Given the description of an element on the screen output the (x, y) to click on. 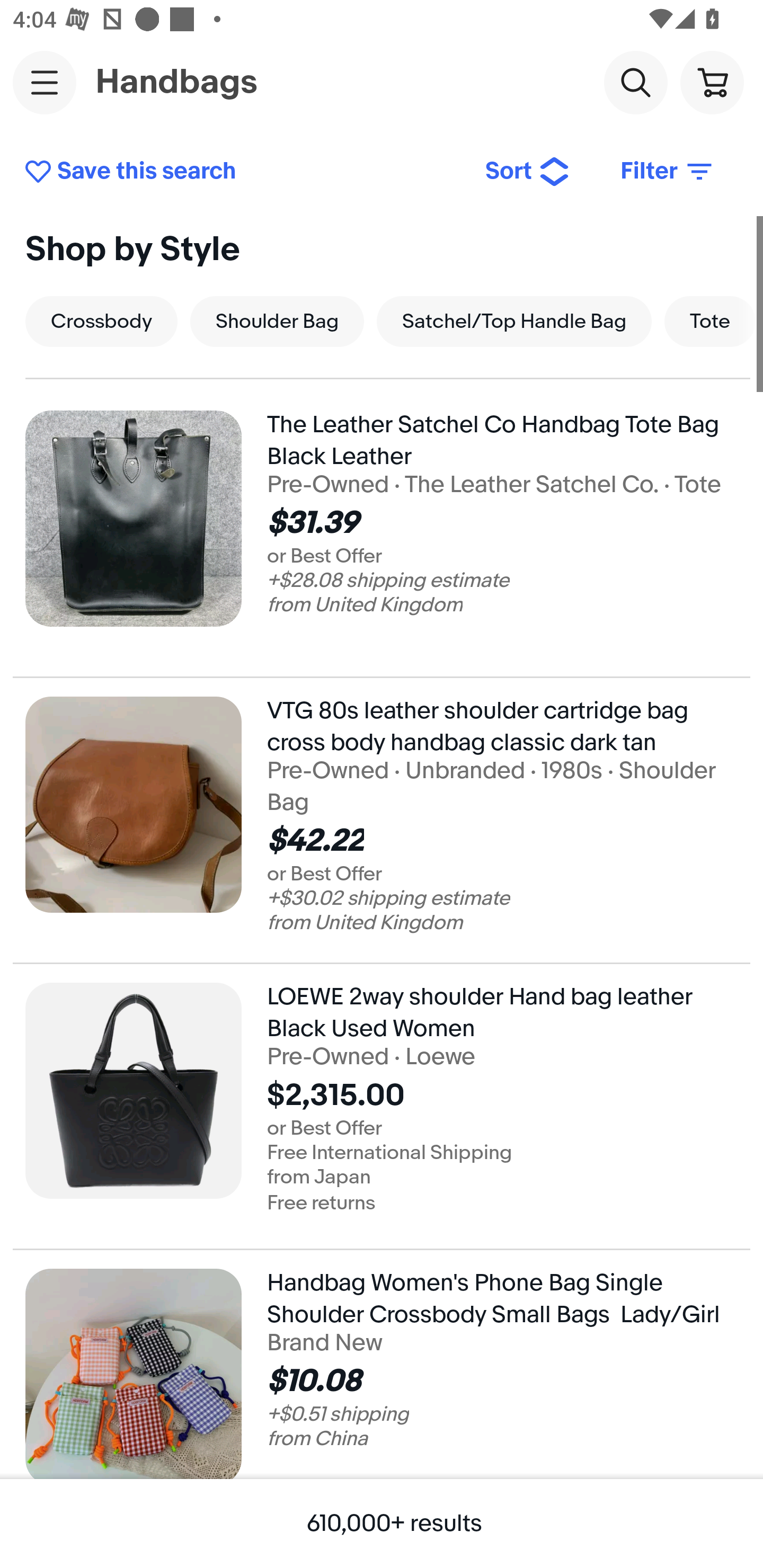
Main navigation, open (44, 82)
Search (635, 81)
Cart button shopping cart (711, 81)
Save this search (241, 171)
Sort (527, 171)
Filter (667, 171)
Crossbody Crossbody, Style (101, 321)
Shoulder Bag Shoulder Bag, Style (276, 321)
Tote Tote, Style (709, 321)
